Given the description of an element on the screen output the (x, y) to click on. 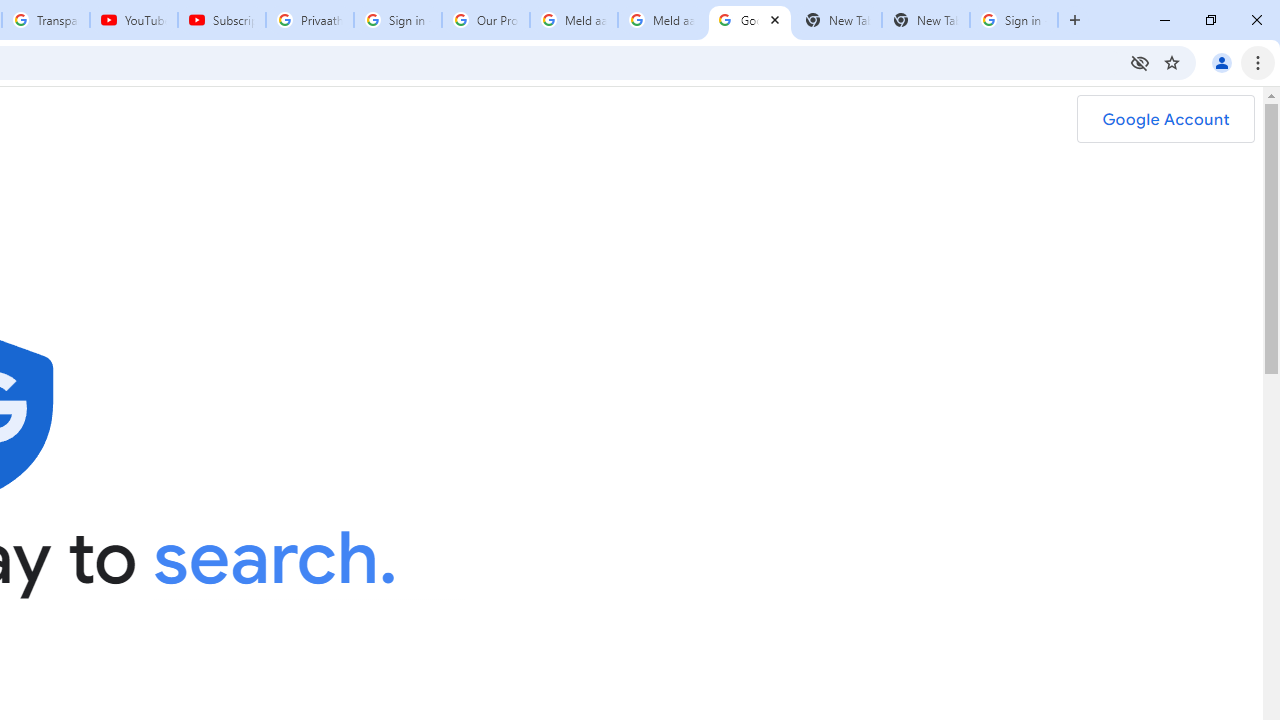
Subscriptions - YouTube (221, 20)
Sign in - Google Accounts (397, 20)
